Given the description of an element on the screen output the (x, y) to click on. 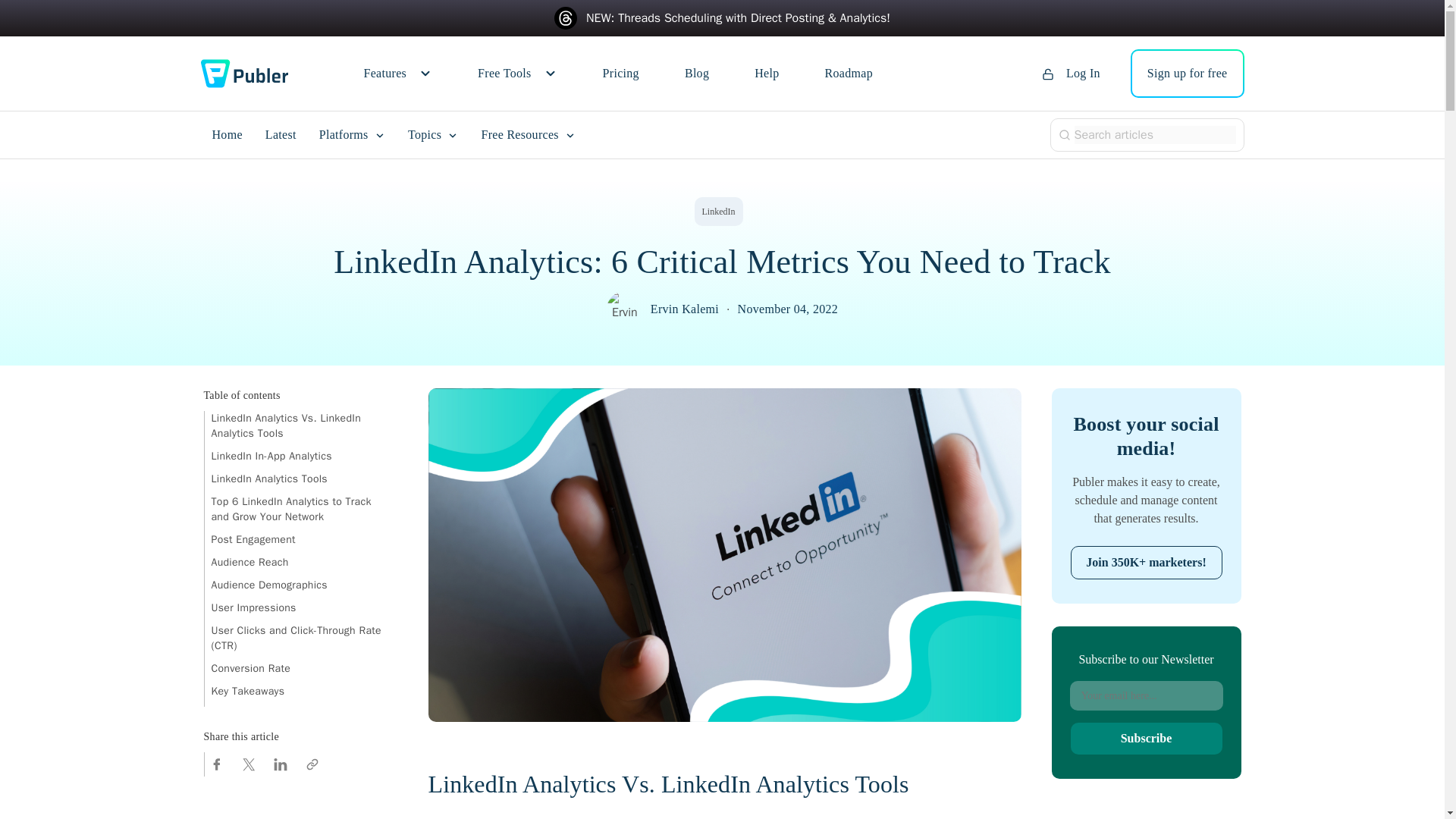
Search articles (1154, 135)
Features (398, 73)
Log In (1071, 73)
Platforms (351, 134)
Pricing (620, 73)
Blog (696, 73)
Help (766, 73)
Latest (280, 134)
Home (226, 134)
Roadmap (848, 73)
